Given the description of an element on the screen output the (x, y) to click on. 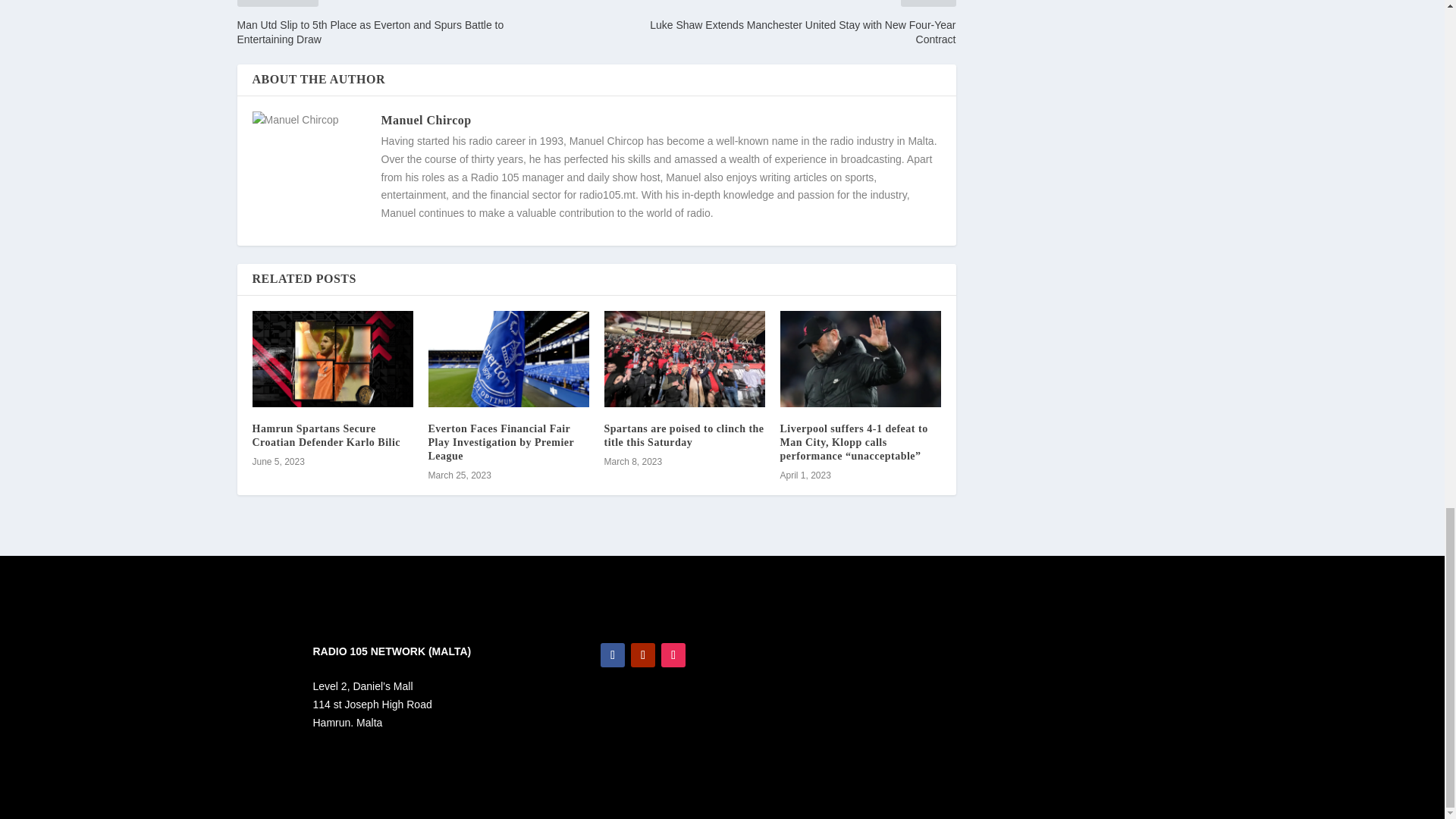
View all posts by Manuel Chircop (425, 119)
